Given the description of an element on the screen output the (x, y) to click on. 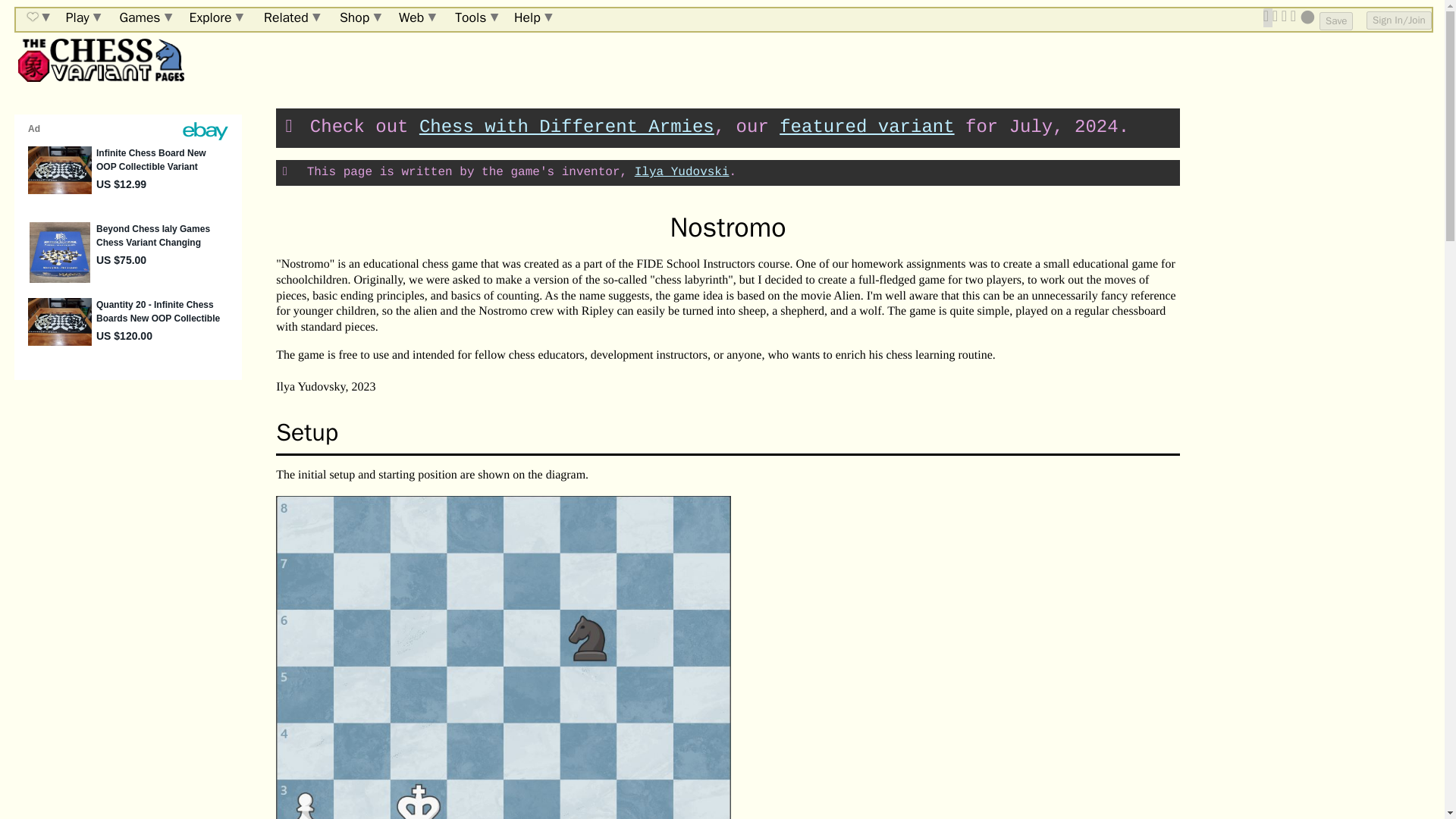
Ilya Yudovski (681, 172)
Save the current color scheme to a cookie. (1335, 21)
Advertisement (127, 474)
Save (1335, 21)
featured variant (865, 127)
Save (1335, 21)
Click to go to the Homepage (98, 59)
Chess with Different Armies (566, 127)
